Given the description of an element on the screen output the (x, y) to click on. 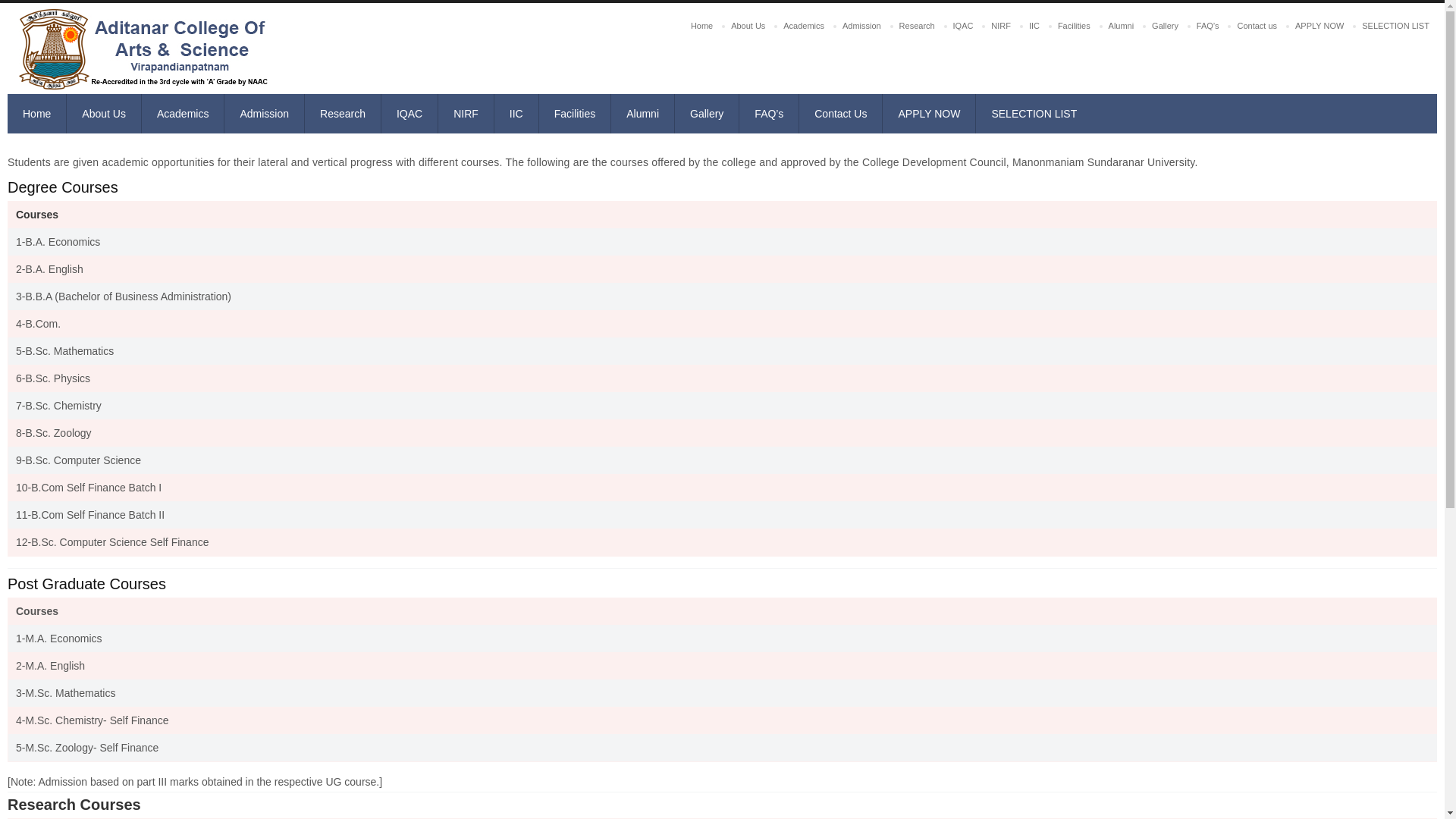
IQAC (962, 26)
About Us (748, 26)
Admission (861, 26)
Research (916, 26)
Academics (803, 26)
Home (701, 26)
NIRF (1000, 26)
